Given the description of an element on the screen output the (x, y) to click on. 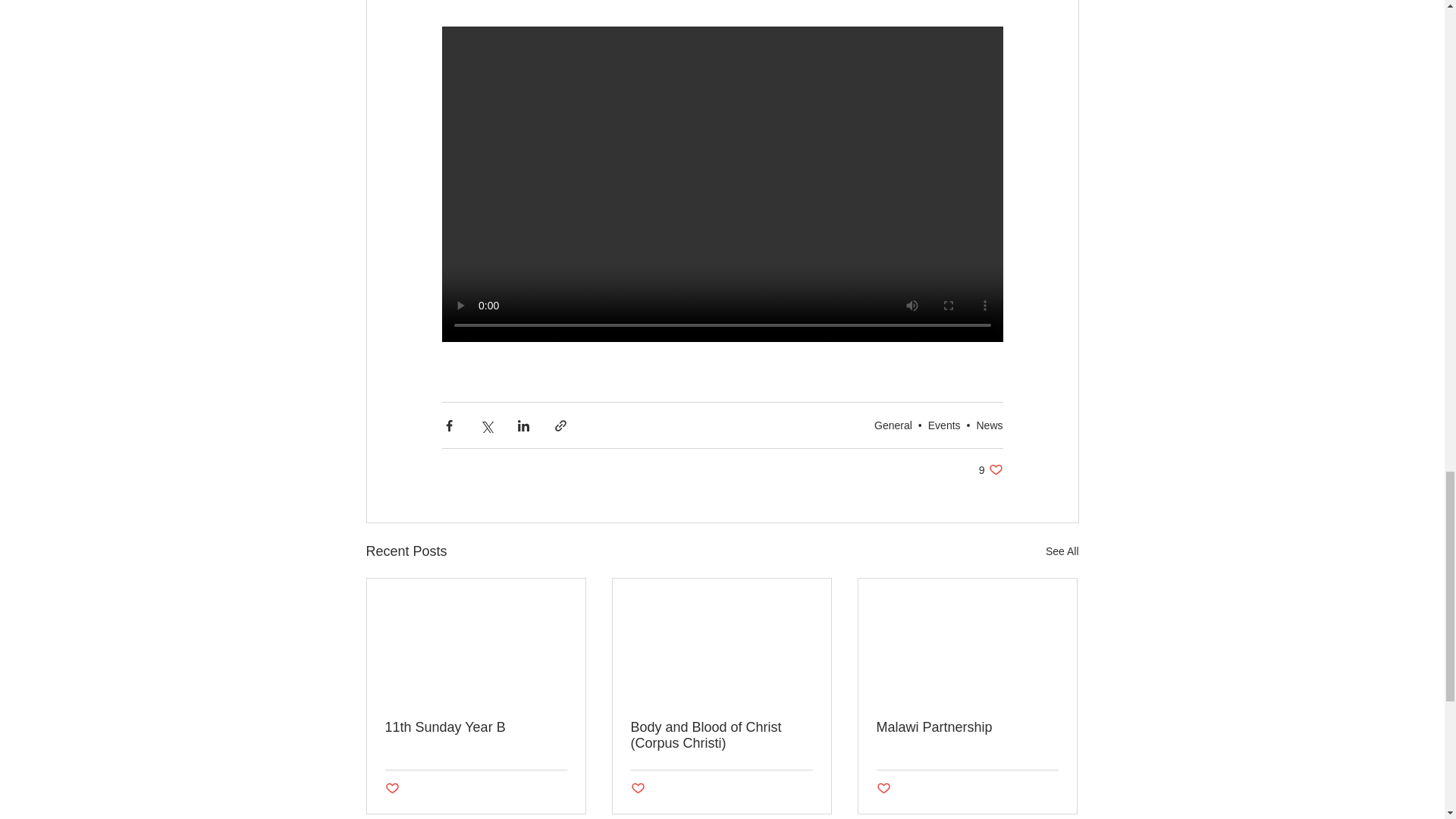
News (989, 425)
Events (944, 425)
General (893, 425)
